Given the description of an element on the screen output the (x, y) to click on. 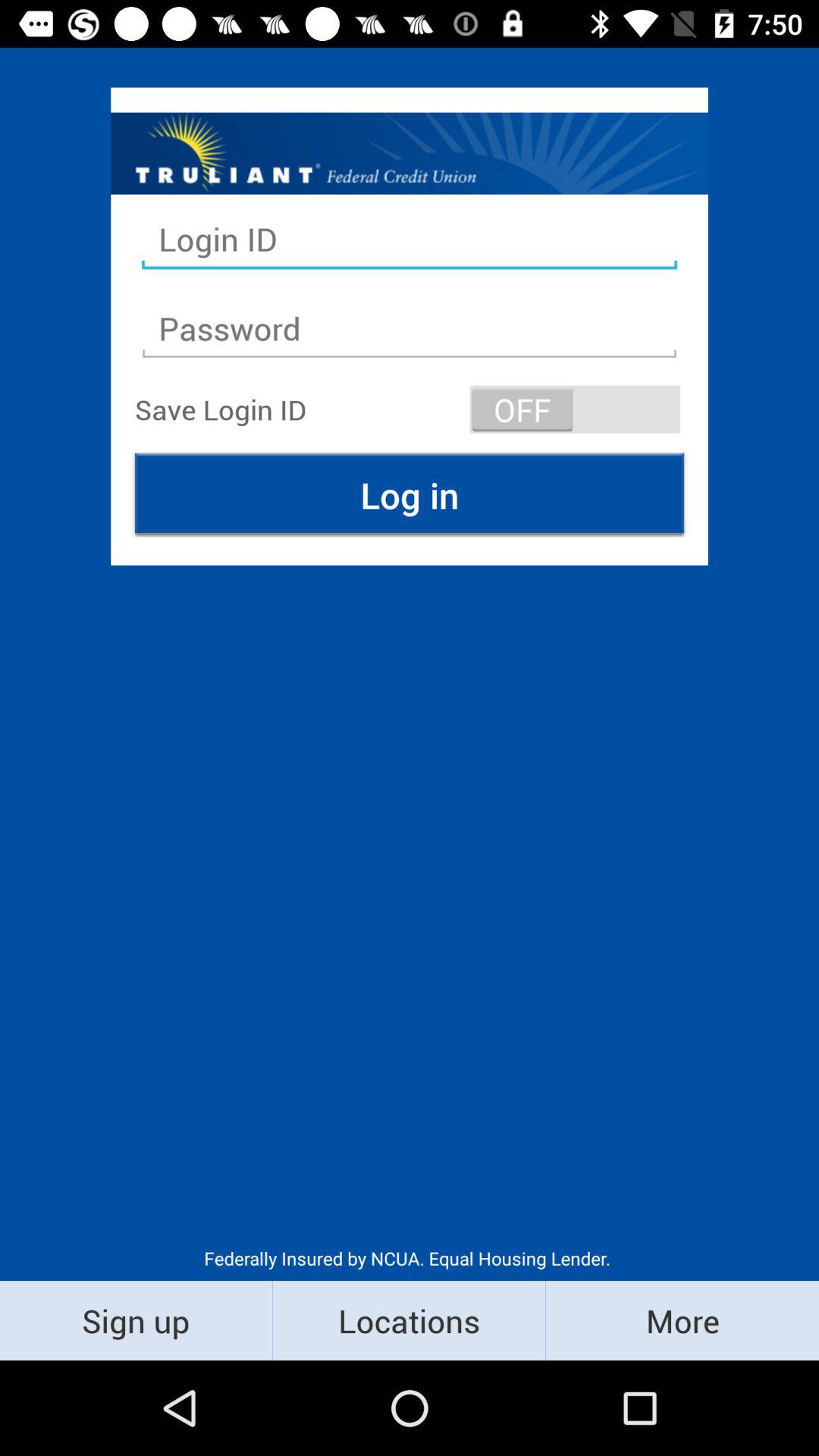
turn on the icon above the federally insured by (409, 494)
